Given the description of an element on the screen output the (x, y) to click on. 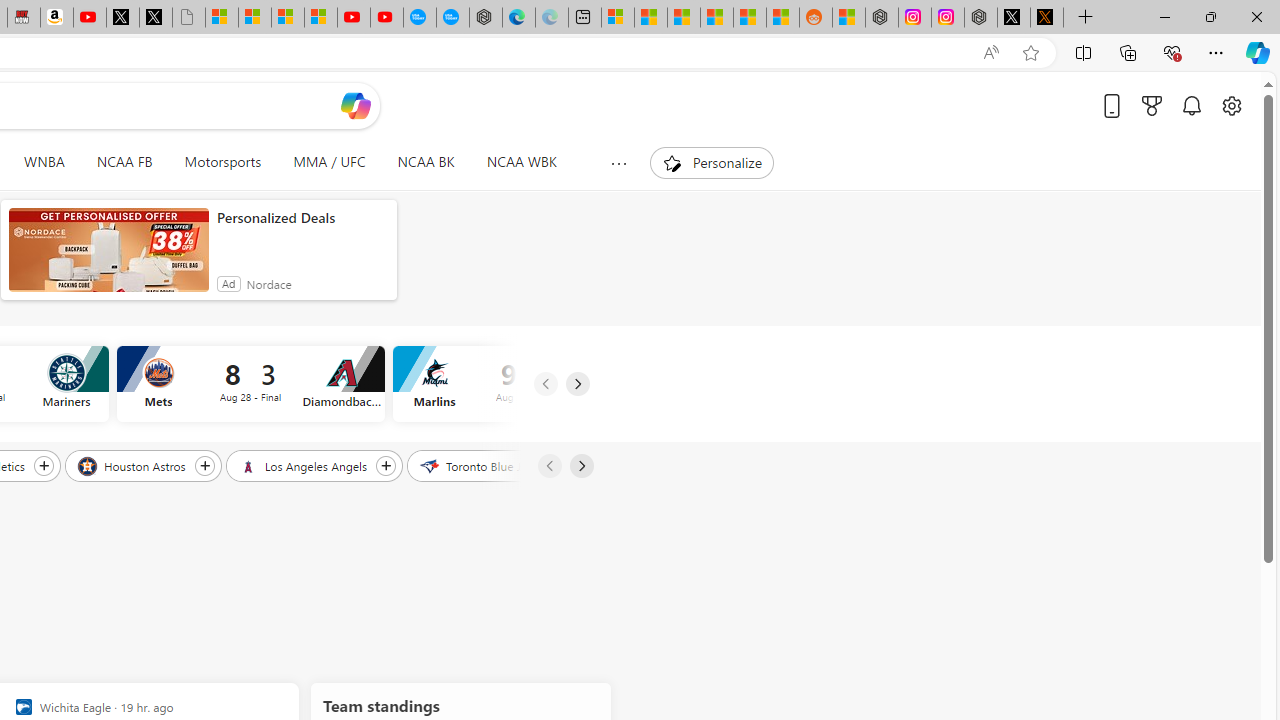
NCAA WBK (521, 162)
NCAA BK (425, 162)
anim-content (107, 258)
WNBA (44, 162)
NCAA FB (123, 162)
